Given the description of an element on the screen output the (x, y) to click on. 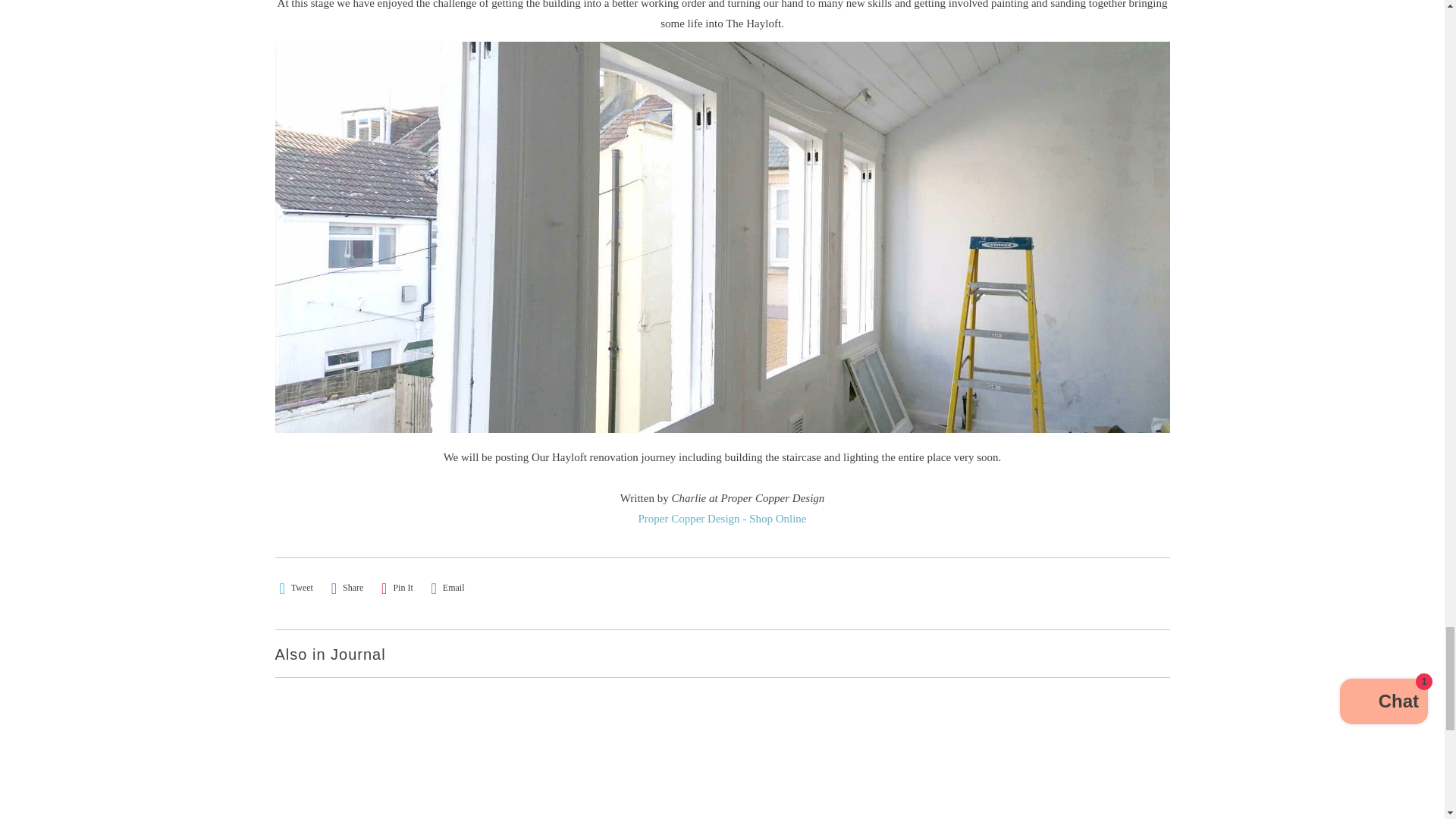
homepage (721, 518)
Share this on Facebook (347, 587)
Share this on Pinterest (397, 587)
Share this on Twitter (296, 587)
Email this to a friend (447, 587)
